Given the description of an element on the screen output the (x, y) to click on. 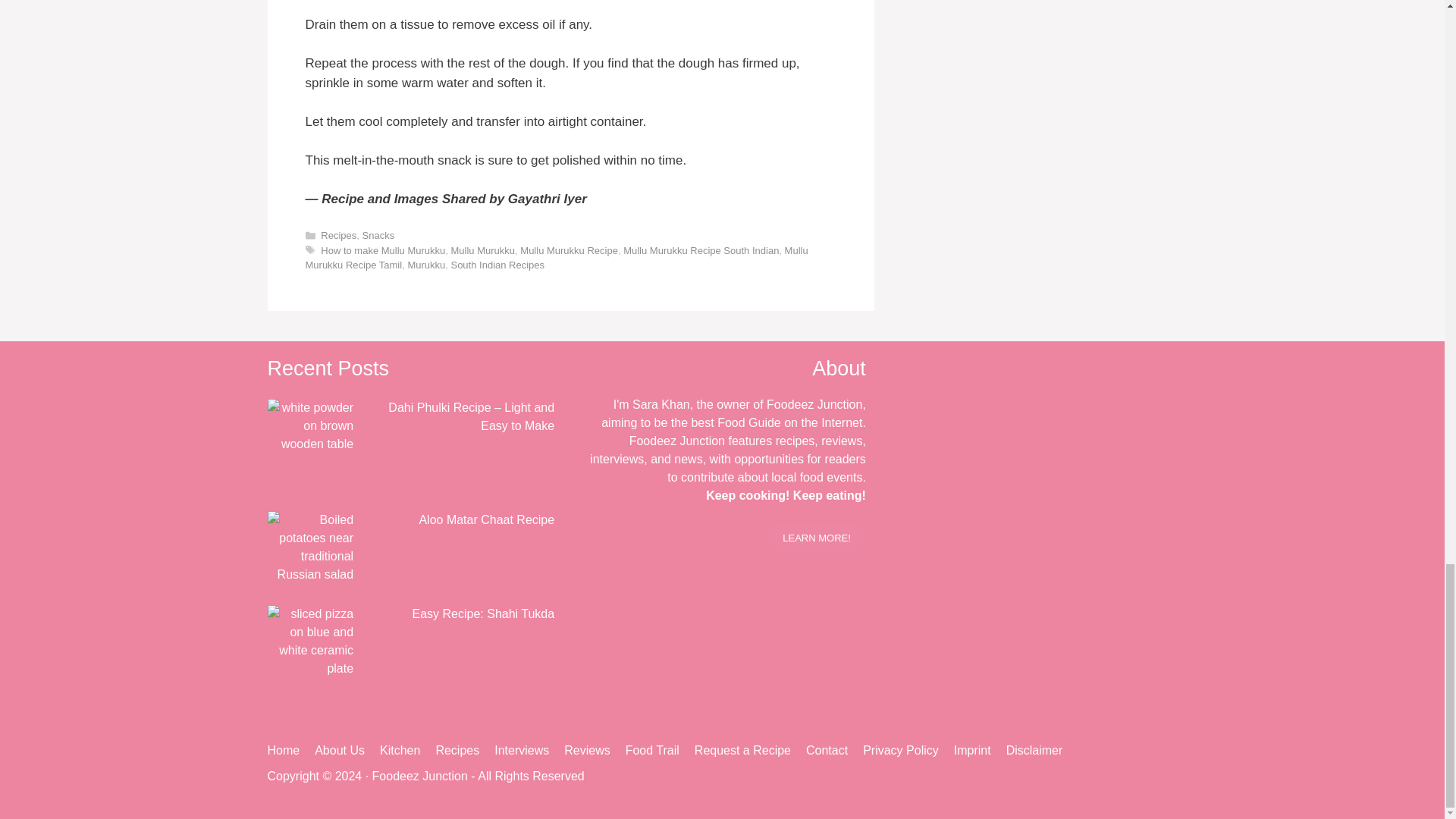
Mullu Murukku Recipe South Indian (700, 250)
Easy Recipe: Shahi Tukda (309, 641)
Snacks (378, 235)
Mullu Murukku Recipe (568, 250)
Murukku (426, 265)
Aloo Matar Chaat Recipe (309, 574)
Easy Recipe: Shahi Tukda (309, 667)
How to make Mullu Murukku (382, 250)
Mullu Murukku (483, 250)
Aloo Matar Chaat Recipe (309, 547)
Aloo Matar Chaat Recipe (486, 519)
Easy Recipe: Shahi Tukda (483, 613)
South Indian Recipes (496, 265)
Recipes (338, 235)
Mullu Murukku Recipe Tamil (556, 257)
